Given the description of an element on the screen output the (x, y) to click on. 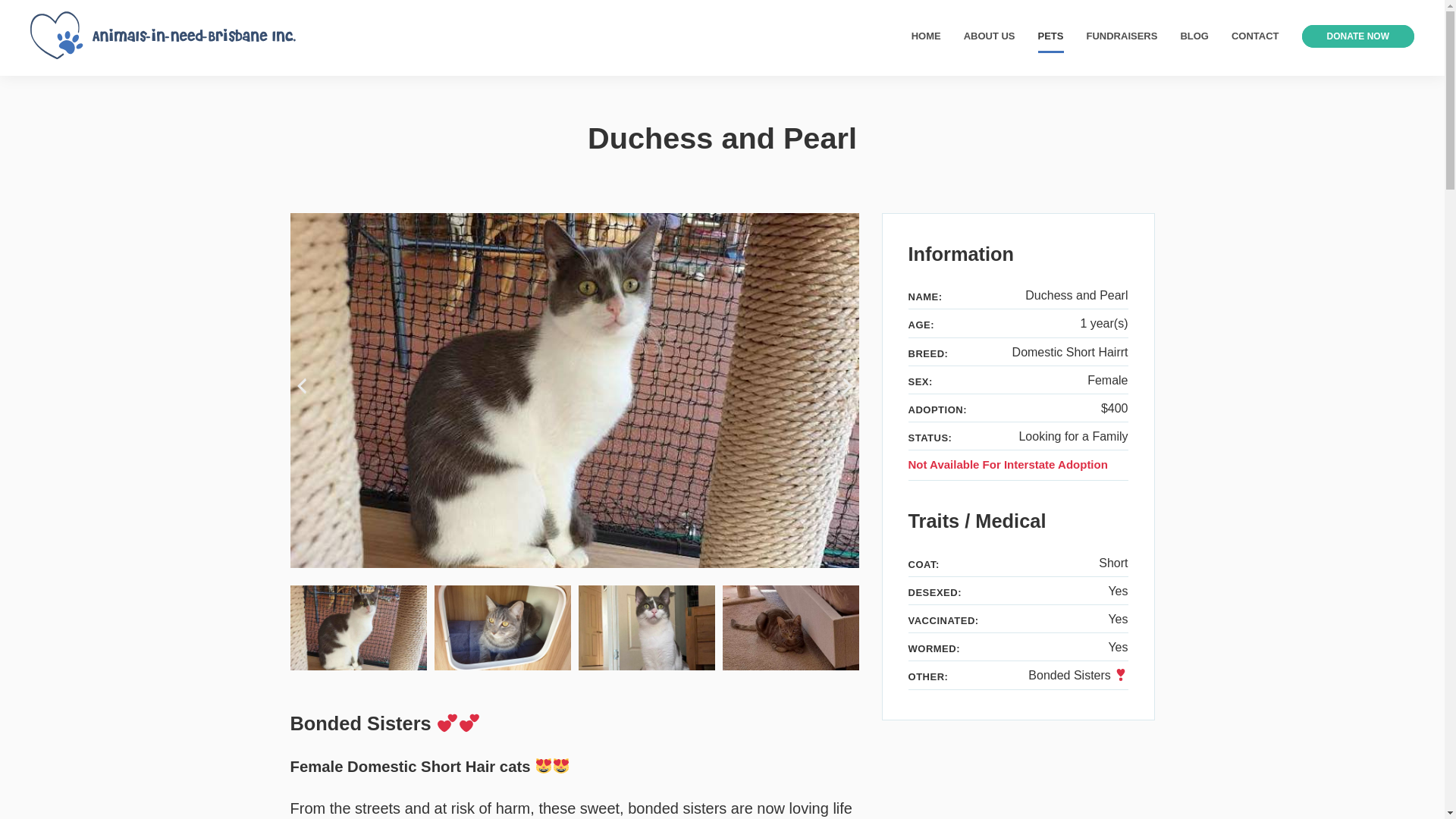
CONTACT (1255, 36)
BLOG (1194, 36)
PETS (1050, 36)
HOME (925, 36)
FUNDRAISERS (1122, 36)
DONATE NOW (1357, 36)
ABOUT US (989, 36)
